Given the description of an element on the screen output the (x, y) to click on. 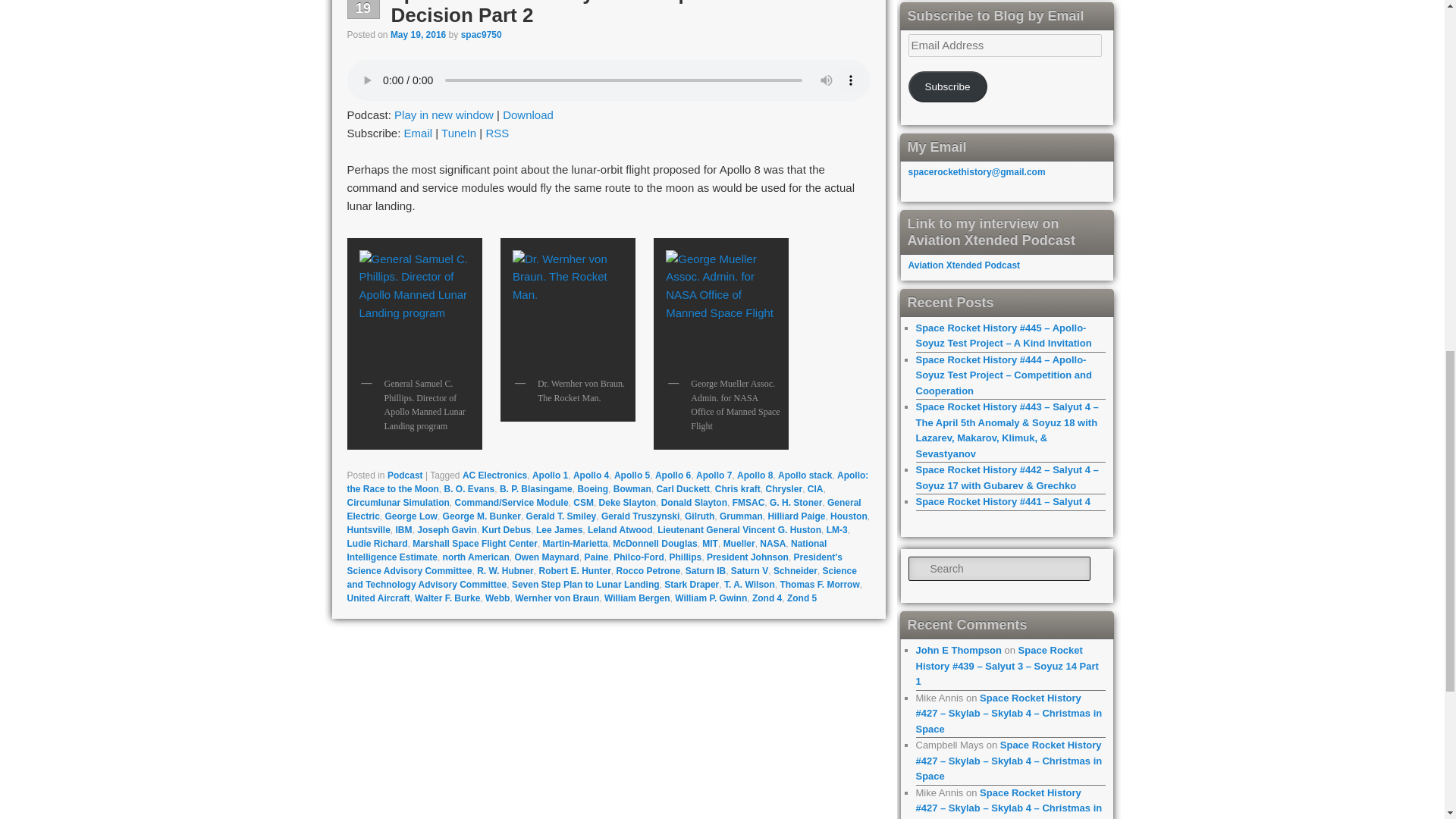
8:10 am (417, 34)
Download (527, 114)
View all posts by spac9750 (481, 34)
Play in new window (443, 114)
Subscribe on TuneIn (458, 132)
Subscribe by Email (418, 132)
